Given the description of an element on the screen output the (x, y) to click on. 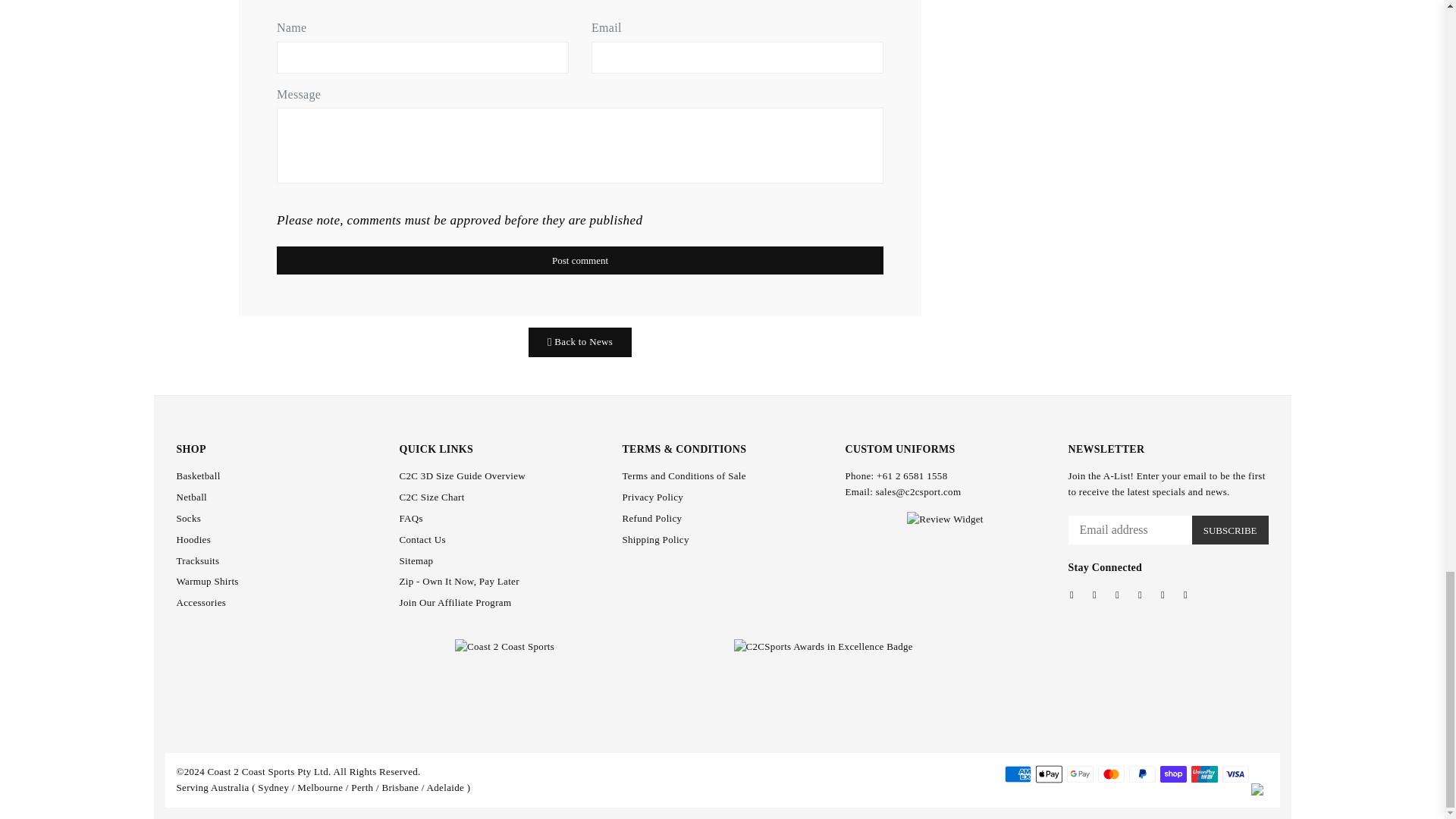
Apple Pay (1048, 773)
Post comment (579, 260)
Mastercard (1110, 773)
PayPal (1142, 773)
Union Pay (1204, 773)
American Express (1017, 773)
Google Pay (1080, 773)
Visa (1236, 773)
Shop Pay (1173, 773)
